Given the description of an element on the screen output the (x, y) to click on. 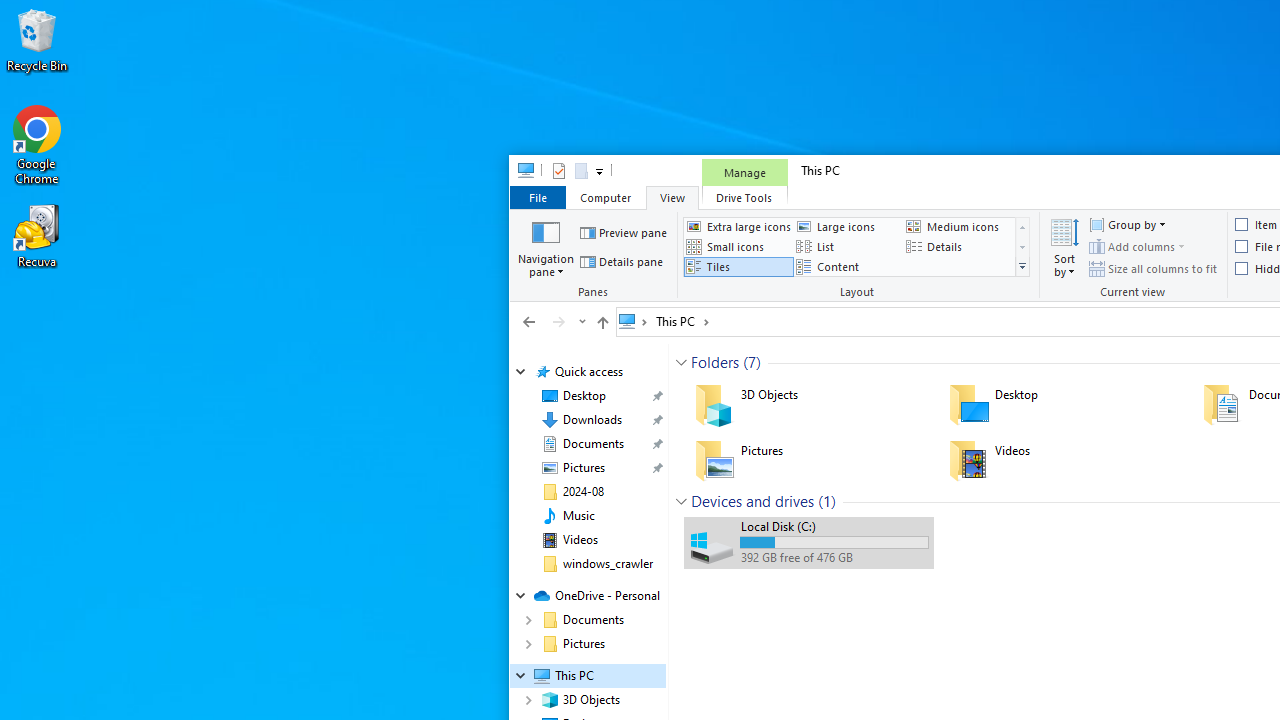
This PC (682, 321)
System (520, 173)
File tab (537, 196)
Collapse Group (681, 501)
Details (958, 246)
windows_crawler (607, 564)
New folder (580, 169)
Music (578, 515)
System (520, 173)
Panes (596, 255)
All locations (633, 321)
Downloads (pinned) (592, 420)
Forward (Alt + Right Arrow) (558, 321)
Properties (558, 169)
Up to "Desktop" (Alt + Up Arrow) (602, 322)
